Given the description of an element on the screen output the (x, y) to click on. 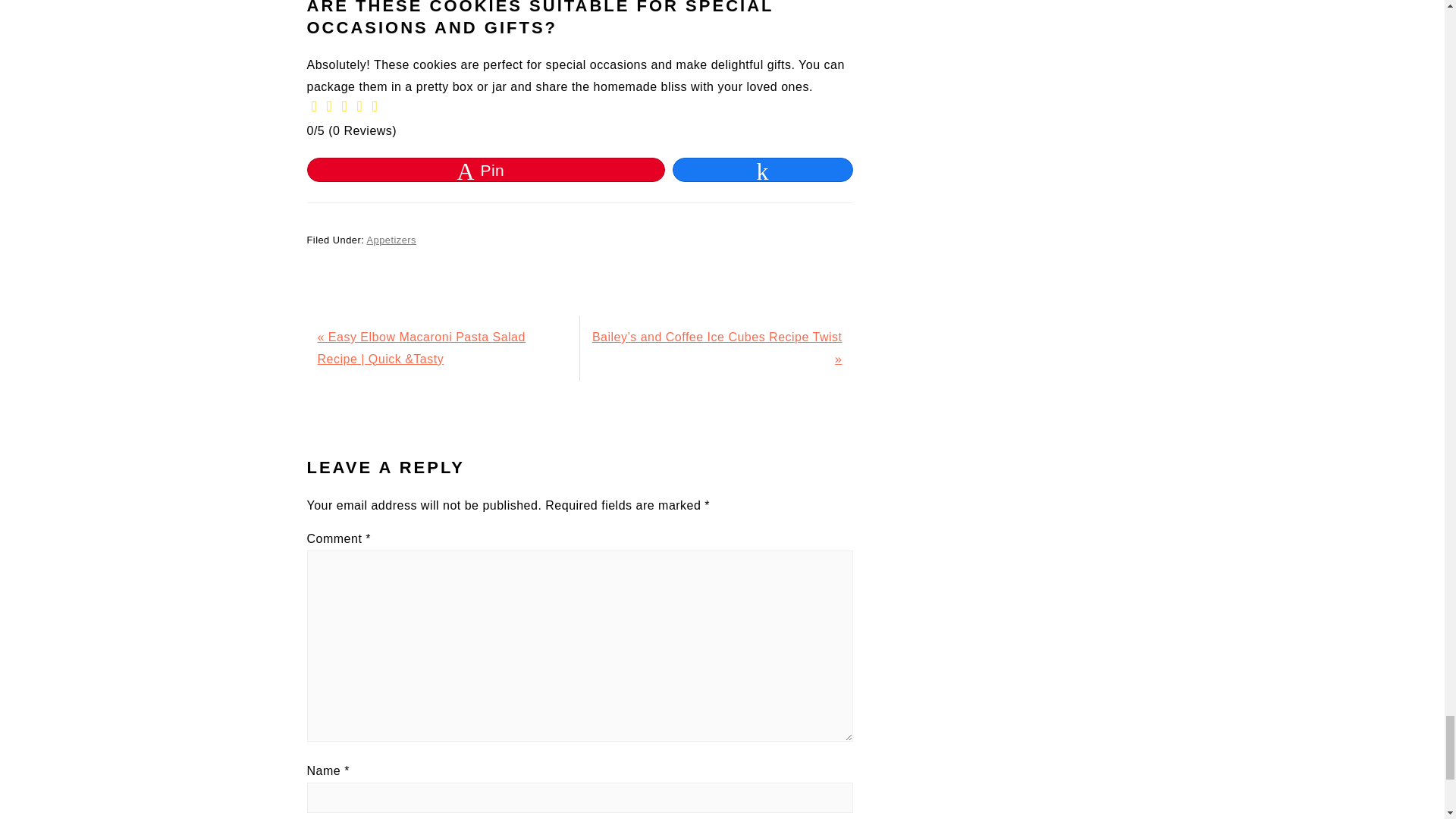
Appetizers (391, 239)
Pin (486, 169)
